Given the description of an element on the screen output the (x, y) to click on. 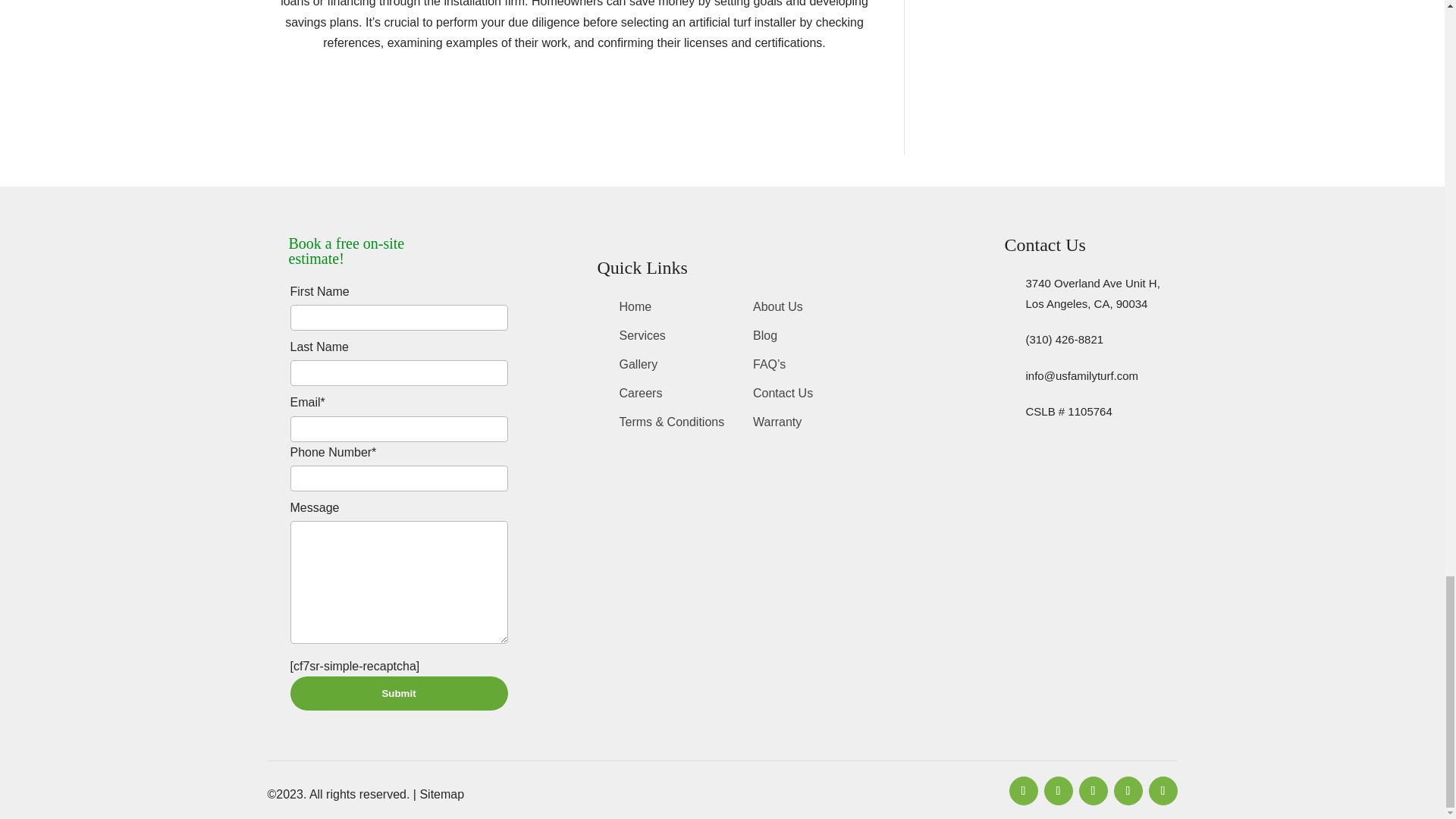
Gallery (638, 367)
About US Family Turf (777, 310)
Submit (397, 693)
Contact US Family Turf (782, 396)
Careers (640, 396)
About Us (777, 310)
Artificial Grass Landscaping Services (641, 338)
Submit (397, 693)
Home (634, 310)
US Family Turf (634, 310)
